Given the description of an element on the screen output the (x, y) to click on. 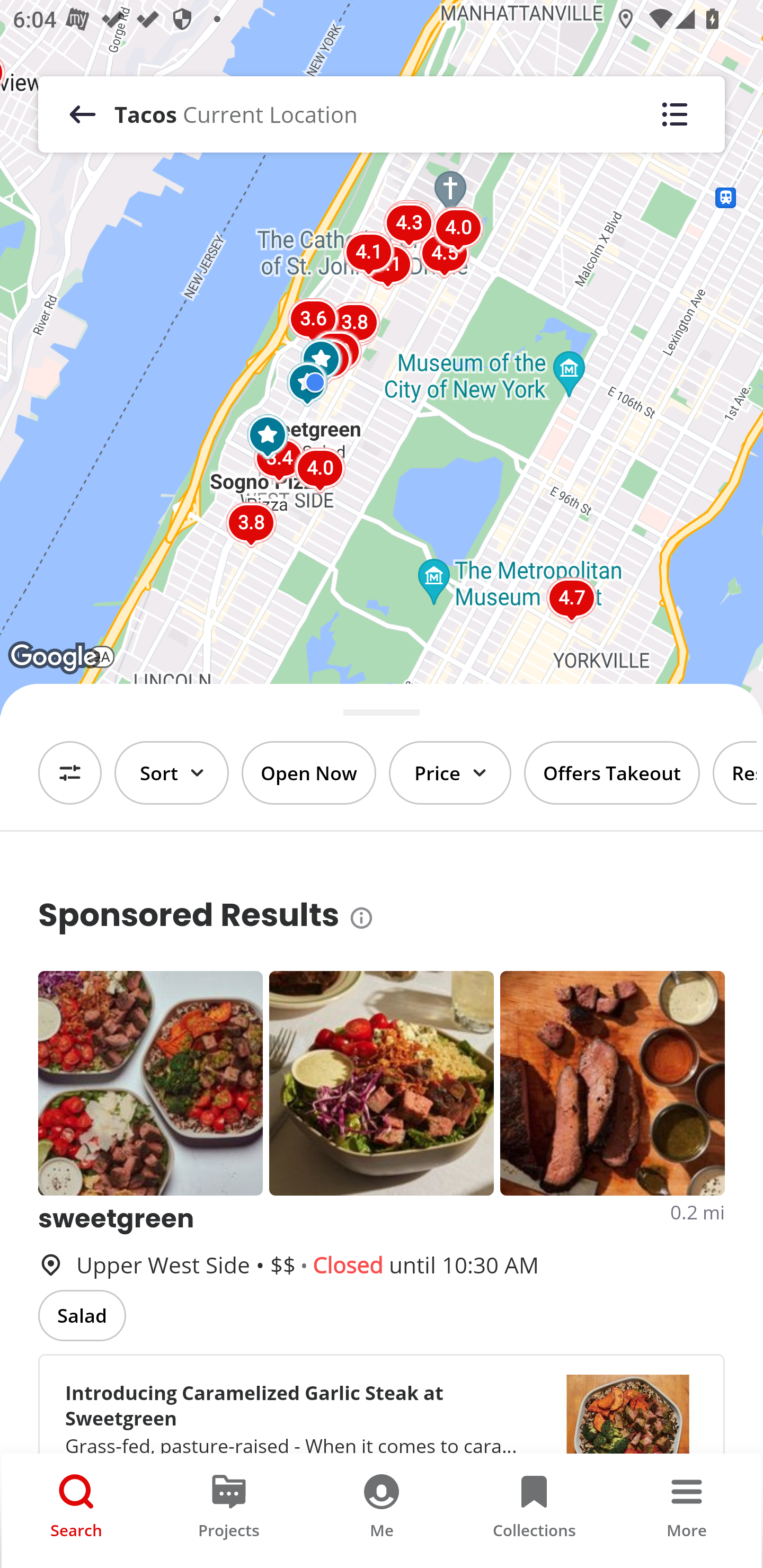
Sort (171, 772)
